Given the description of an element on the screen output the (x, y) to click on. 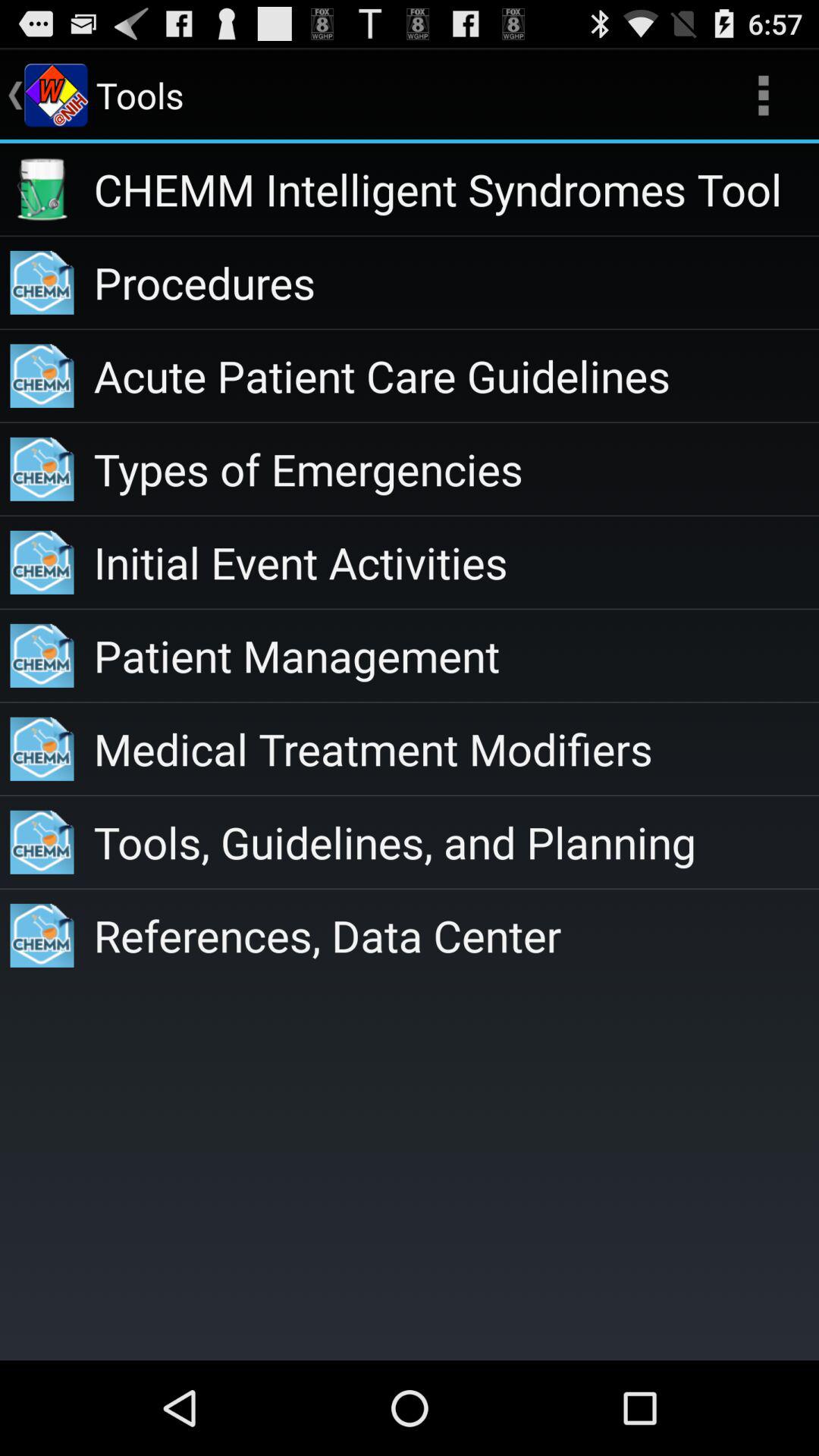
choose app above procedures (456, 189)
